Given the description of an element on the screen output the (x, y) to click on. 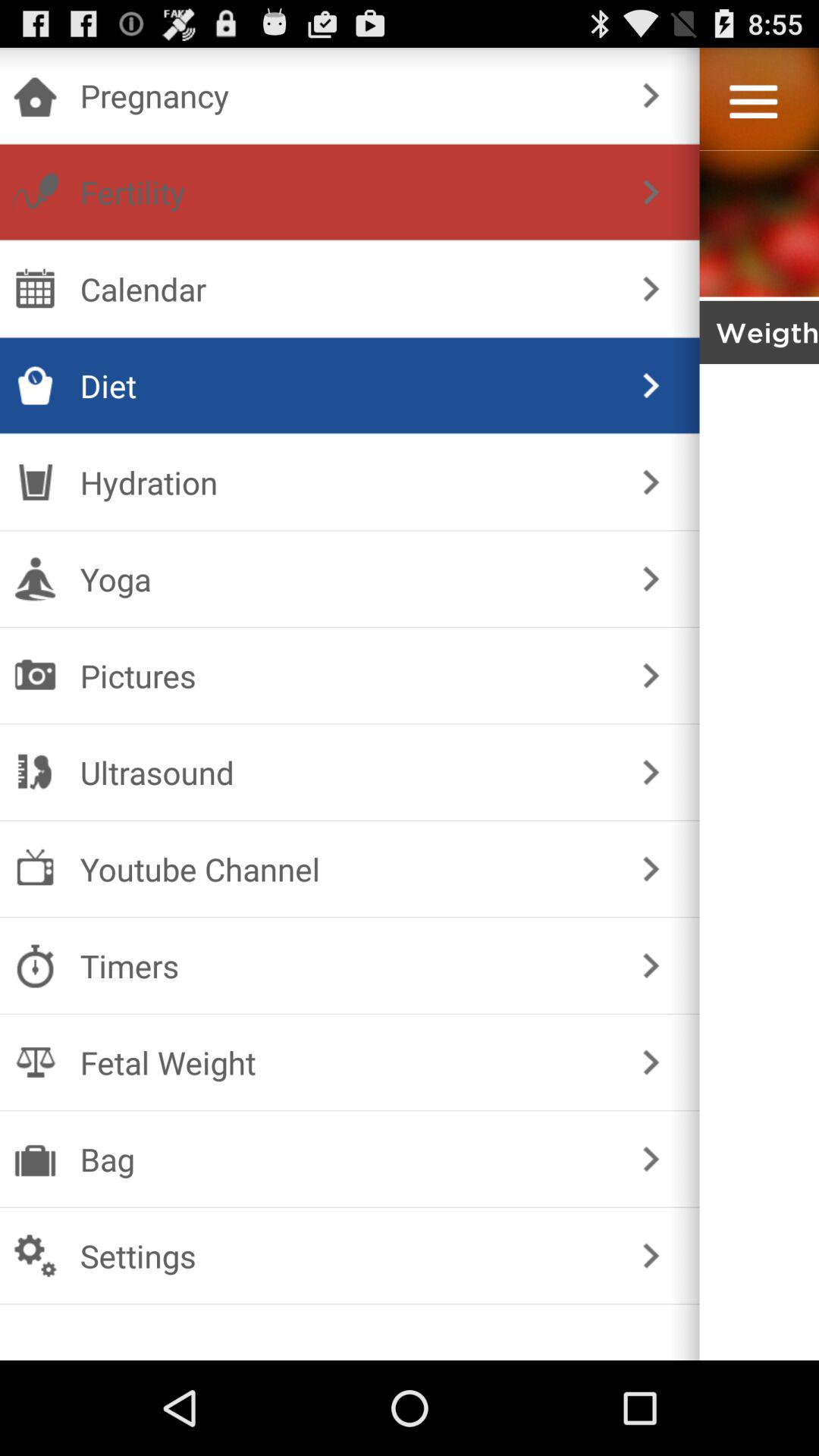
tap the checkbox above the diet (346, 288)
